Given the description of an element on the screen output the (x, y) to click on. 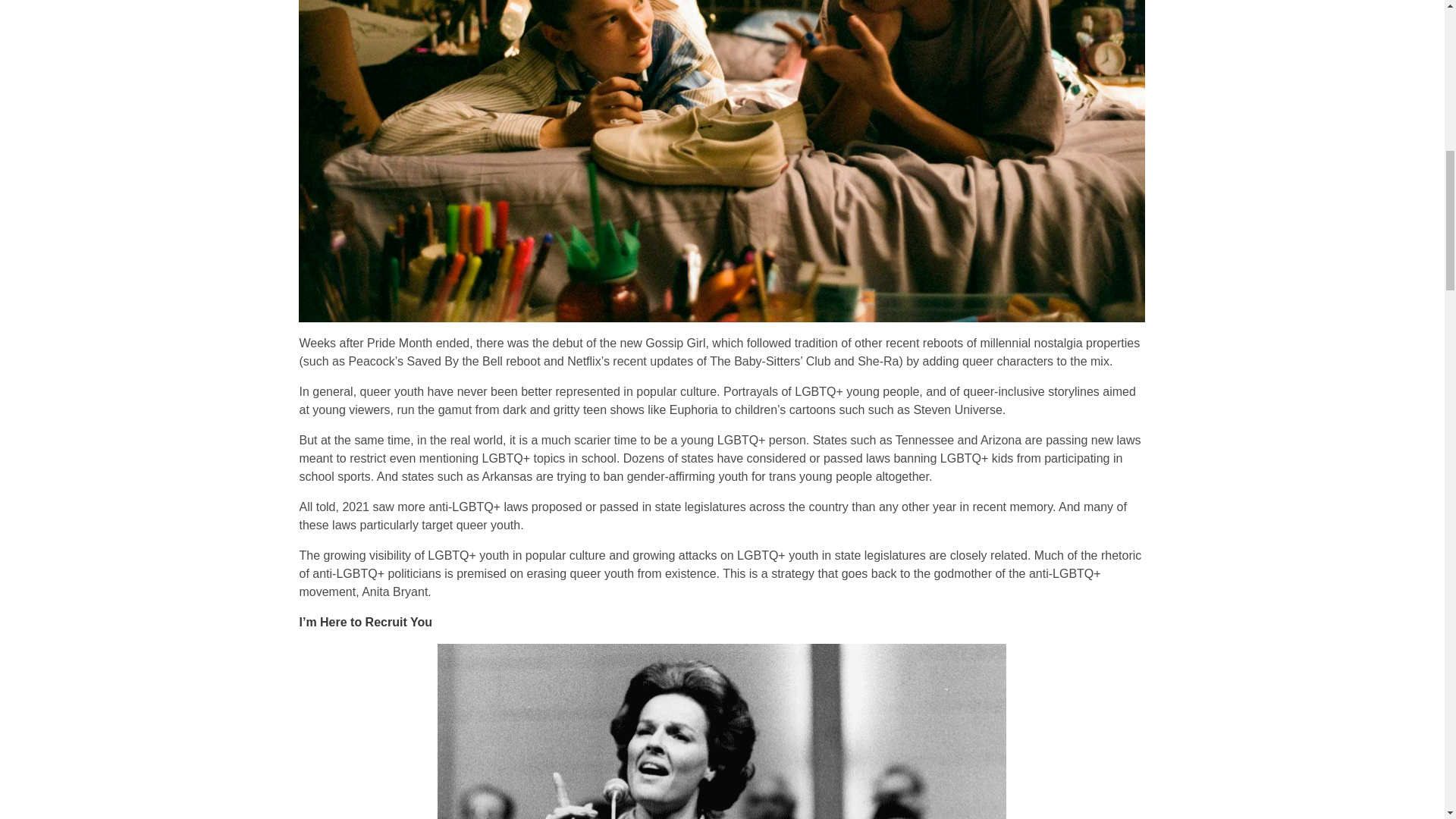
anita (722, 731)
